Given the description of an element on the screen output the (x, y) to click on. 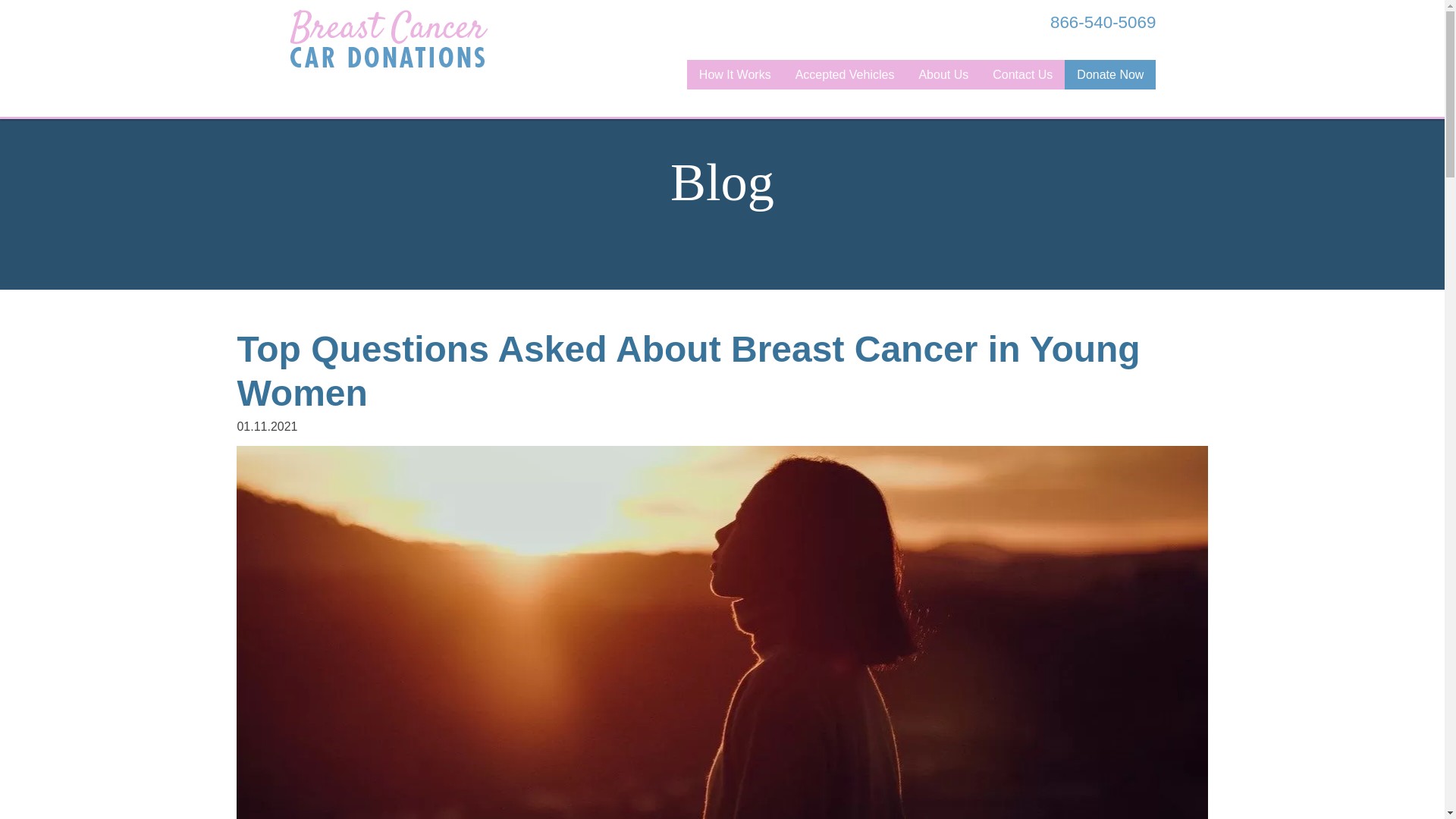
Donate Now (1110, 74)
866-540-5069 (1088, 22)
About Us (942, 74)
Breast Cancer Car Donations (388, 38)
Contact Us (1021, 74)
How It Works (735, 74)
Accepted Vehicles (845, 74)
